Given the description of an element on the screen output the (x, y) to click on. 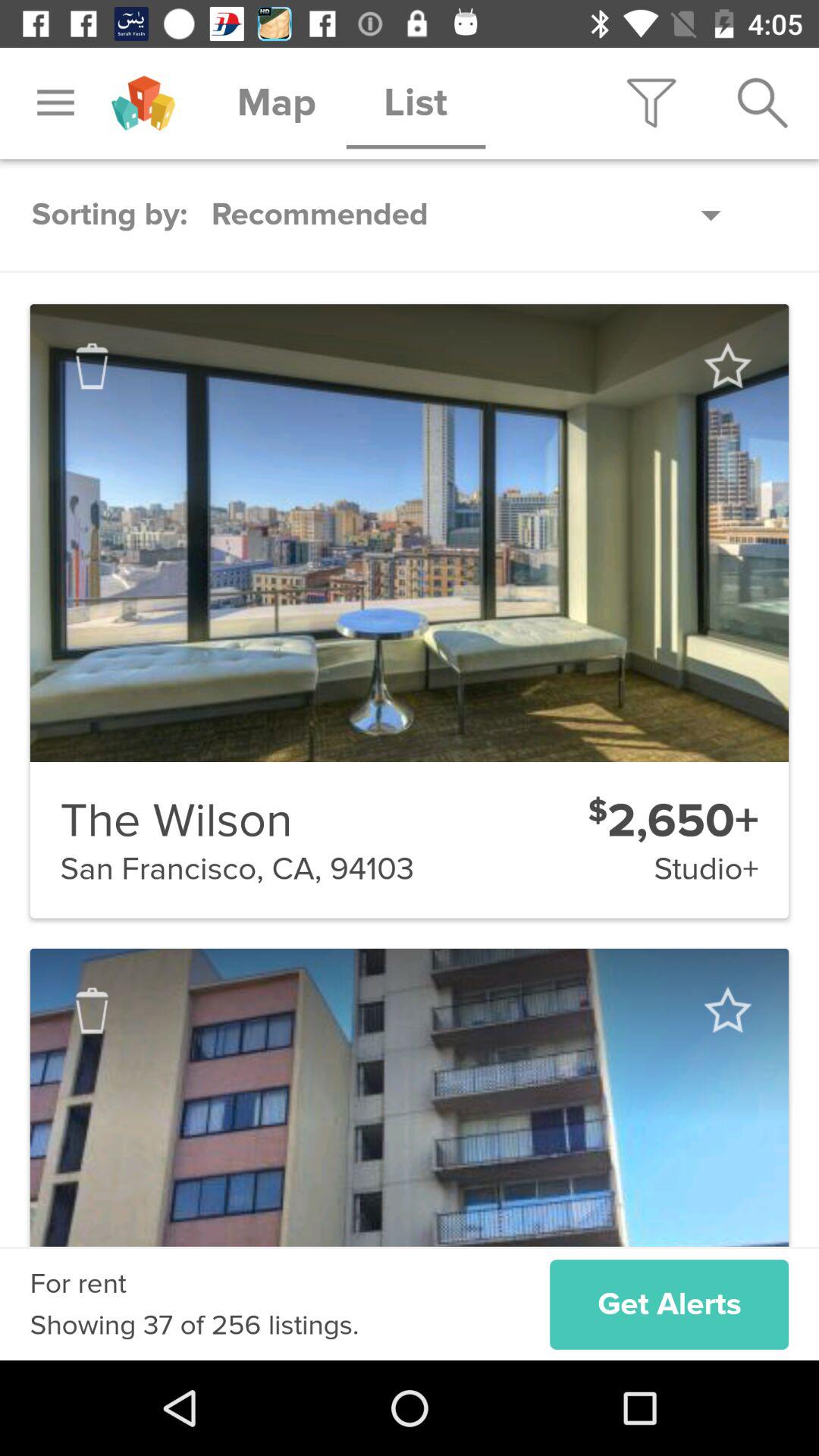
go to delete button (92, 1010)
